Given the description of an element on the screen output the (x, y) to click on. 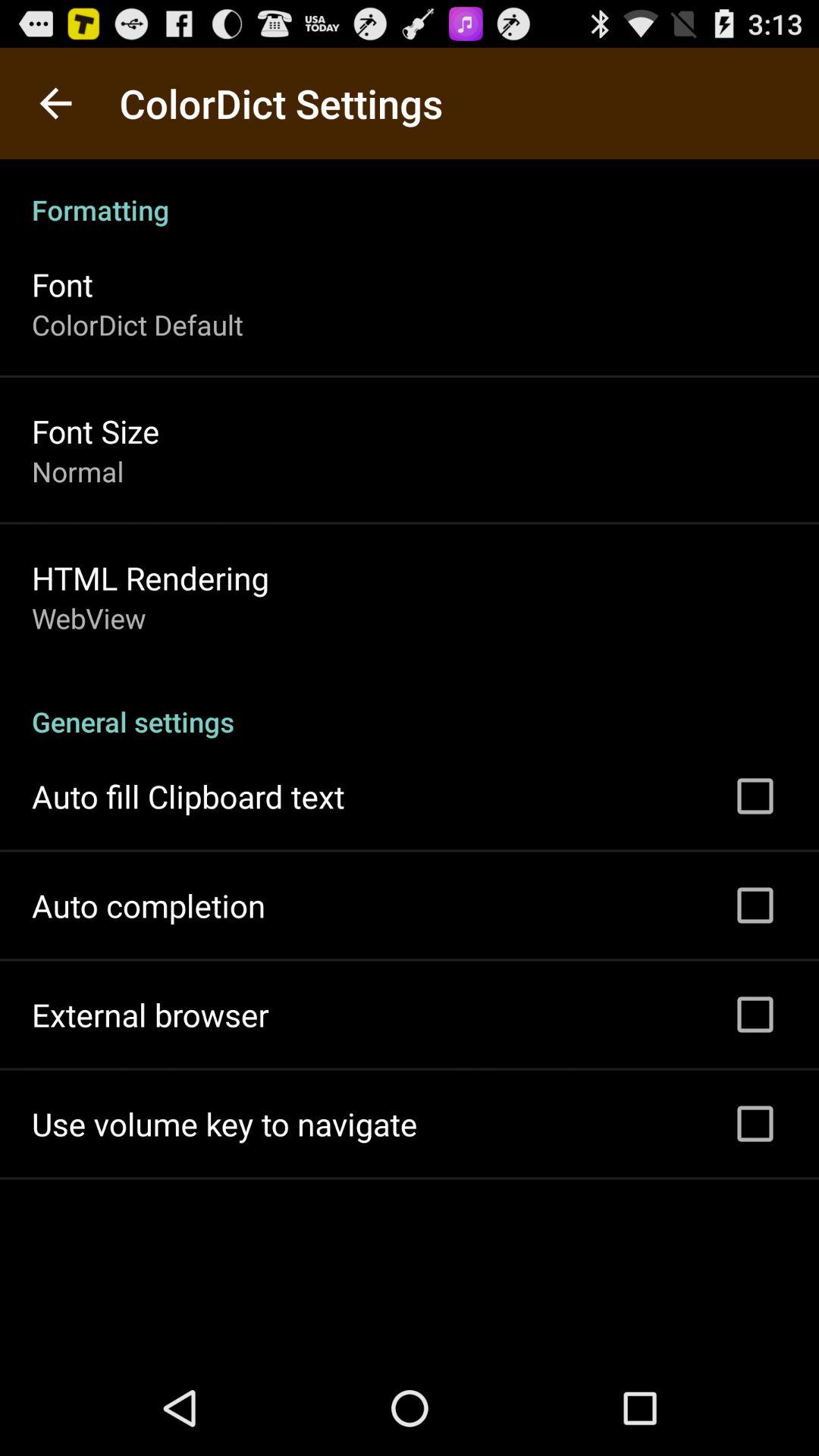
choose icon below colordict default icon (95, 430)
